Given the description of an element on the screen output the (x, y) to click on. 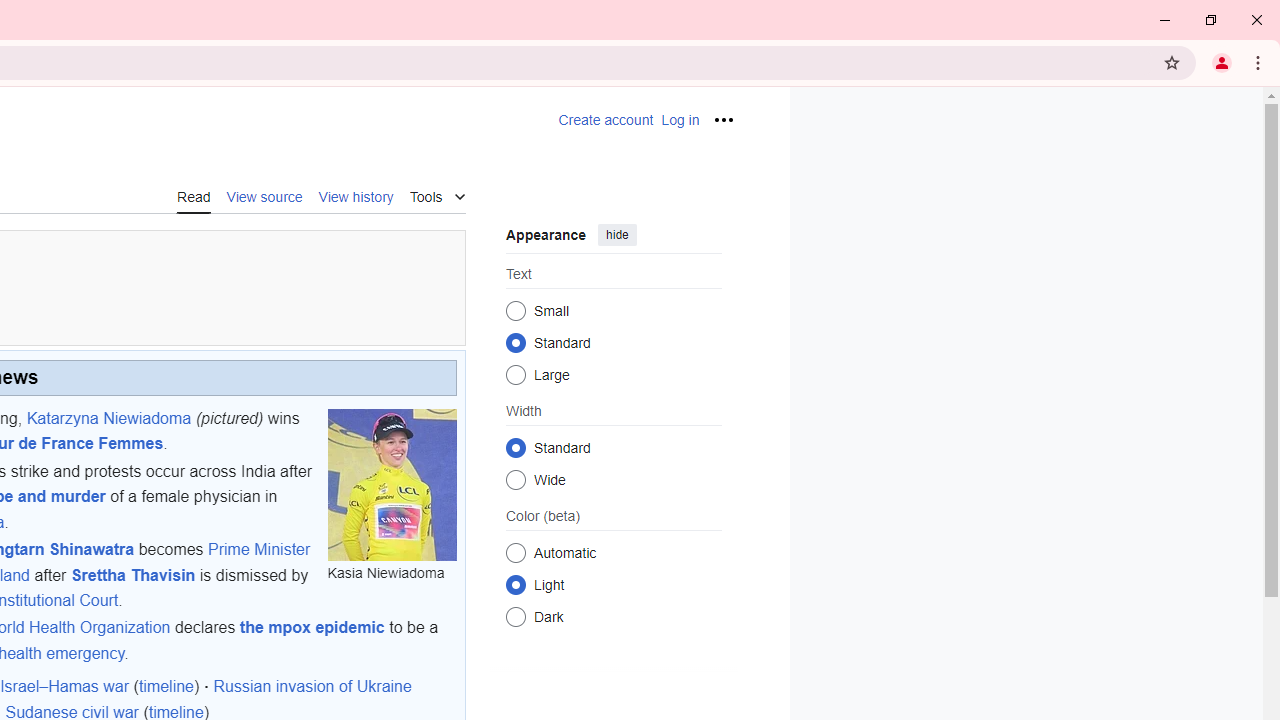
Katarzyna Niewiadoma (108, 417)
Automatic (515, 552)
AutomationID: ca-view (193, 195)
Personal tools (722, 119)
AutomationID: ca-viewsource (264, 195)
Wide (515, 479)
Russian invasion of Ukraine (312, 687)
Read (193, 196)
hide (616, 234)
Kasia Niewiadoma (391, 484)
